Given the description of an element on the screen output the (x, y) to click on. 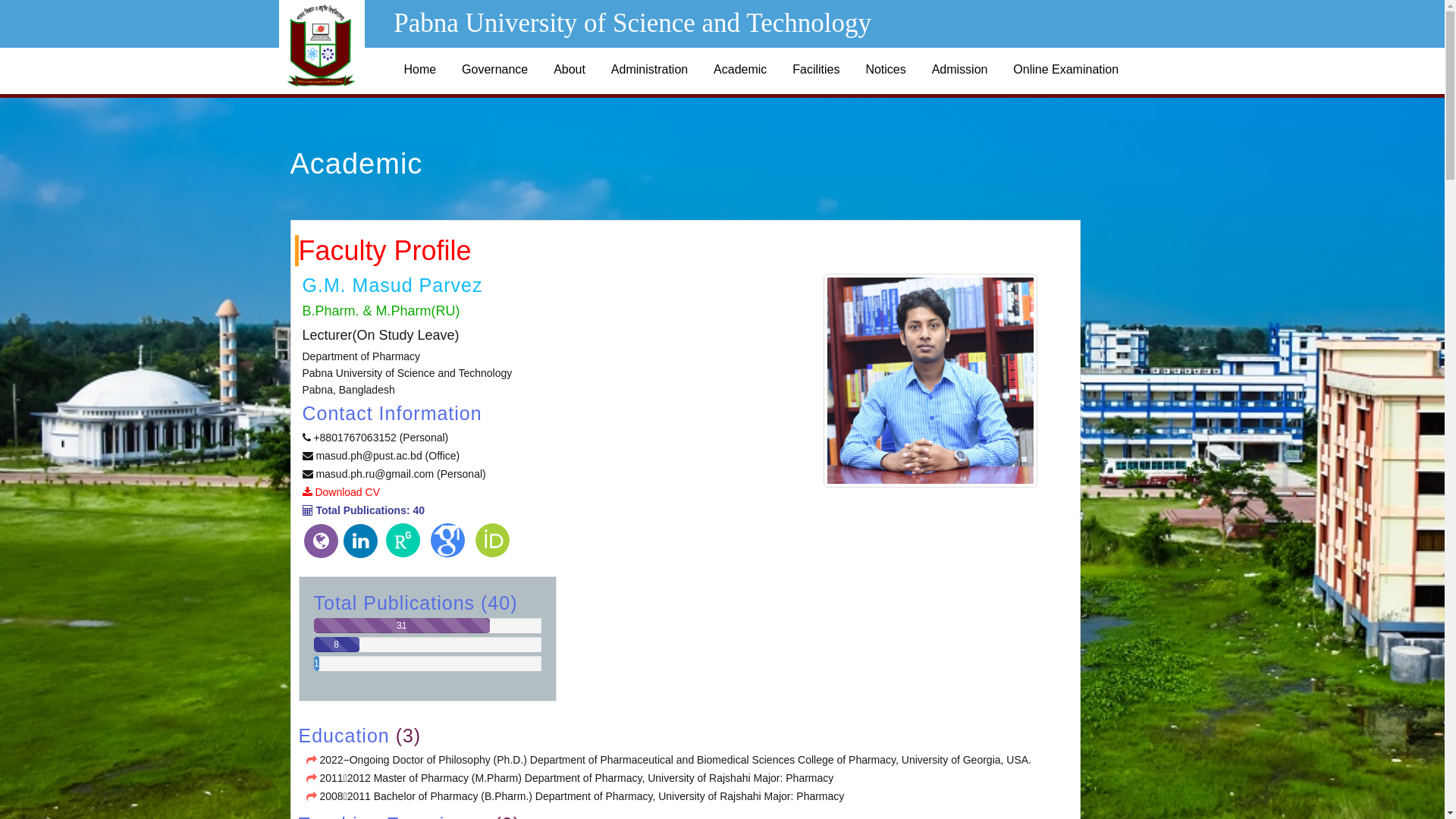
Admission Element type: text (959, 70)
View ORCID Profile Element type: hover (492, 543)
1 Element type: text (427, 663)
31 Element type: text (427, 625)
Governance Element type: text (494, 70)
View Research Gate Profile Element type: hover (402, 543)
Visit Personal Website Element type: hover (320, 541)
Academic Element type: text (740, 70)
Online Examination Element type: text (1065, 70)
About Element type: text (569, 70)
masud.ph@pust.ac.bd (Office) Element type: text (385, 455)
+8801767063152 (Personal) Element type: text (380, 437)
Home Element type: text (420, 70)
Administration Element type: text (649, 70)
8 Element type: text (427, 644)
View Linkedin Profile Element type: hover (360, 541)
Notices Element type: text (884, 70)
Facilities Element type: text (815, 70)
View Google Scholar Profile Element type: hover (447, 543)
Download CV Element type: text (346, 492)
masud.ph.ru@gmail.com (Personal) Element type: text (400, 473)
